Given the description of an element on the screen output the (x, y) to click on. 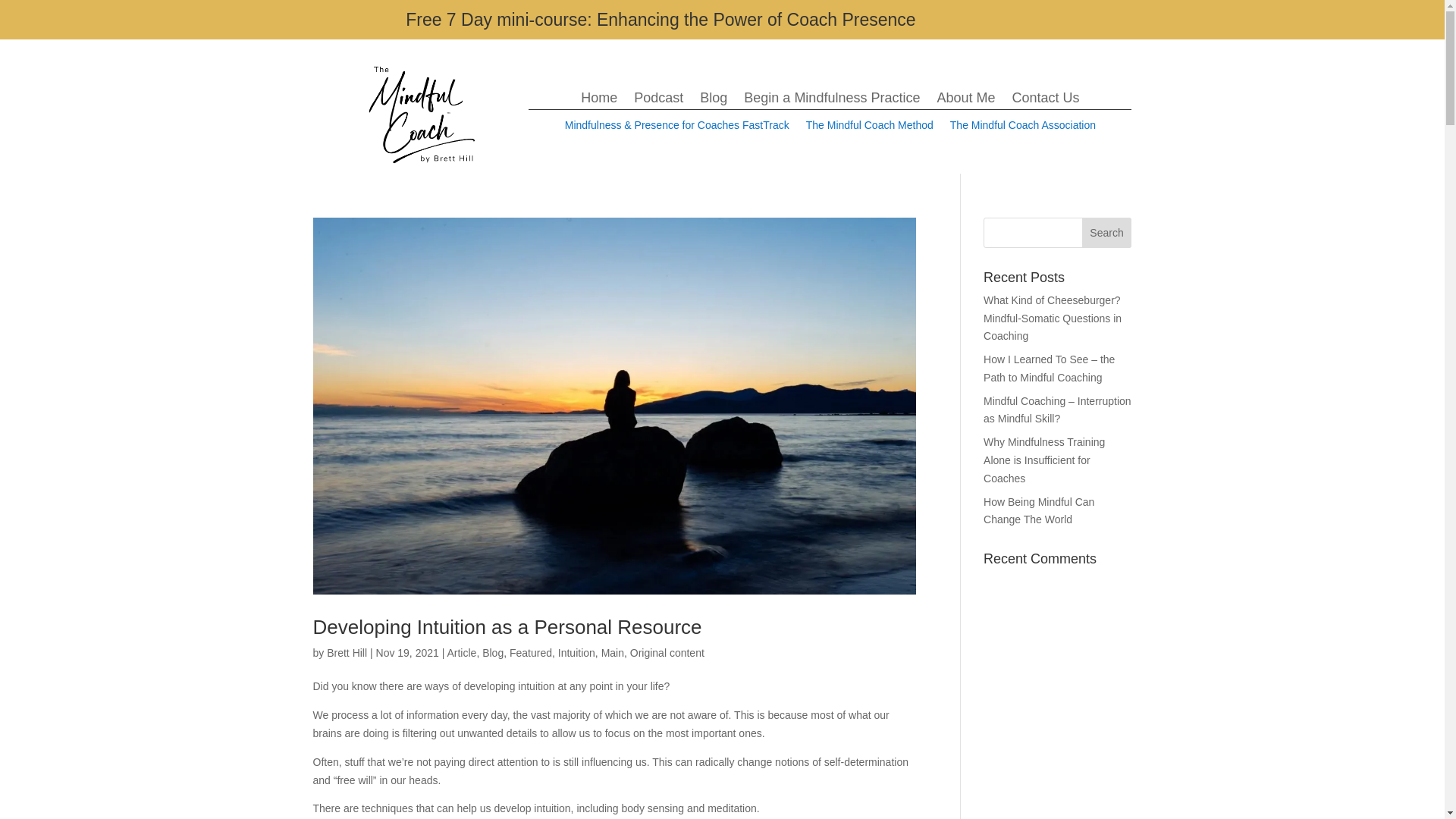
Posts by Brett Hill (346, 653)
Blog (713, 100)
Original content (667, 653)
Intuition (576, 653)
The Mindful Coach Method (869, 127)
Blog (492, 653)
Article (461, 653)
Contact Us (1044, 100)
Brett Hill (346, 653)
Main (612, 653)
